Given the description of an element on the screen output the (x, y) to click on. 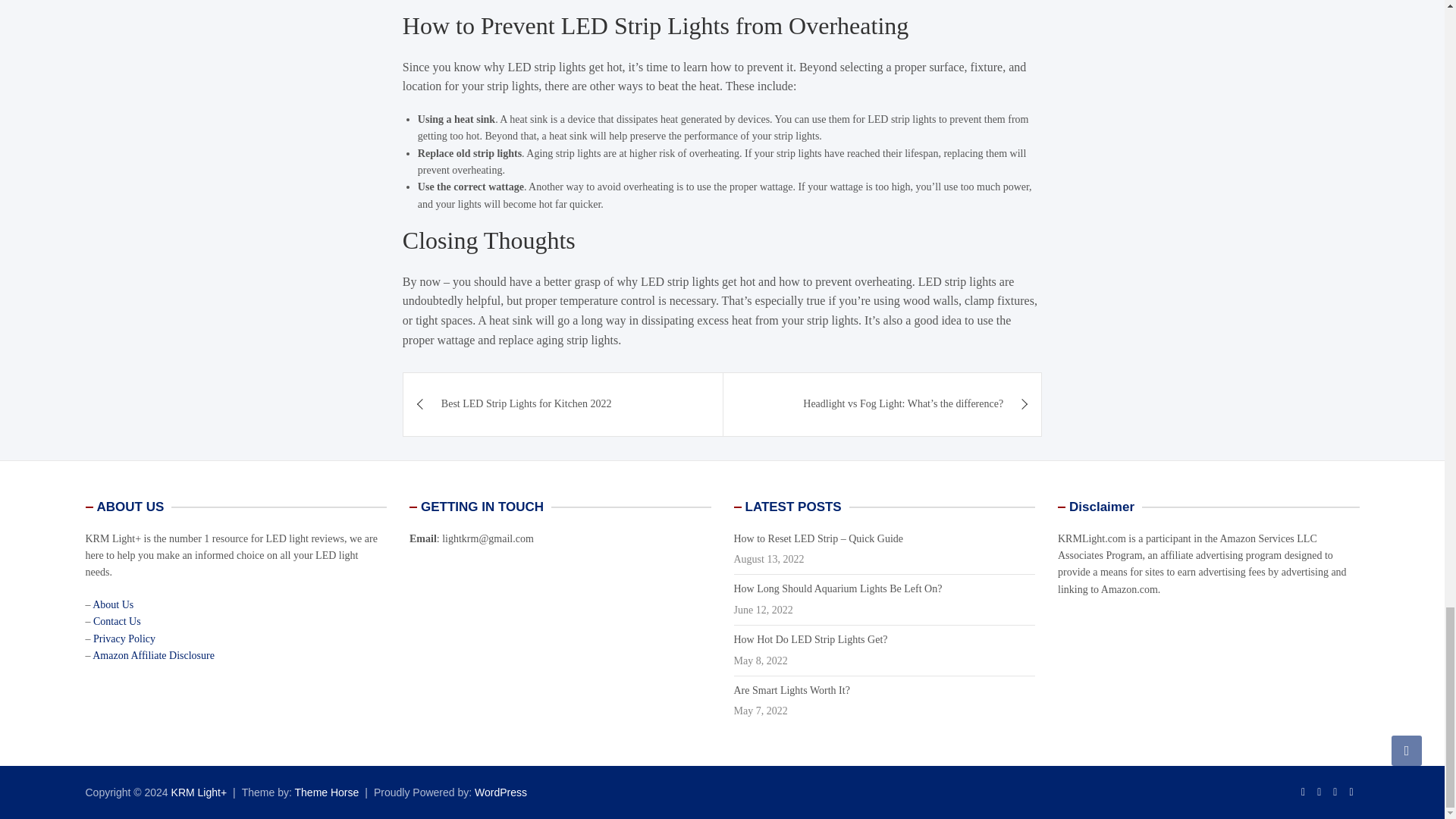
Best LED Strip Lights for Kitchen 2022 (562, 403)
Theme Horse (327, 792)
Amazon Affiliate Disclosure (153, 655)
Contact Us (117, 621)
About Us (113, 604)
WordPress (500, 792)
Privacy Policy (124, 638)
